Given the description of an element on the screen output the (x, y) to click on. 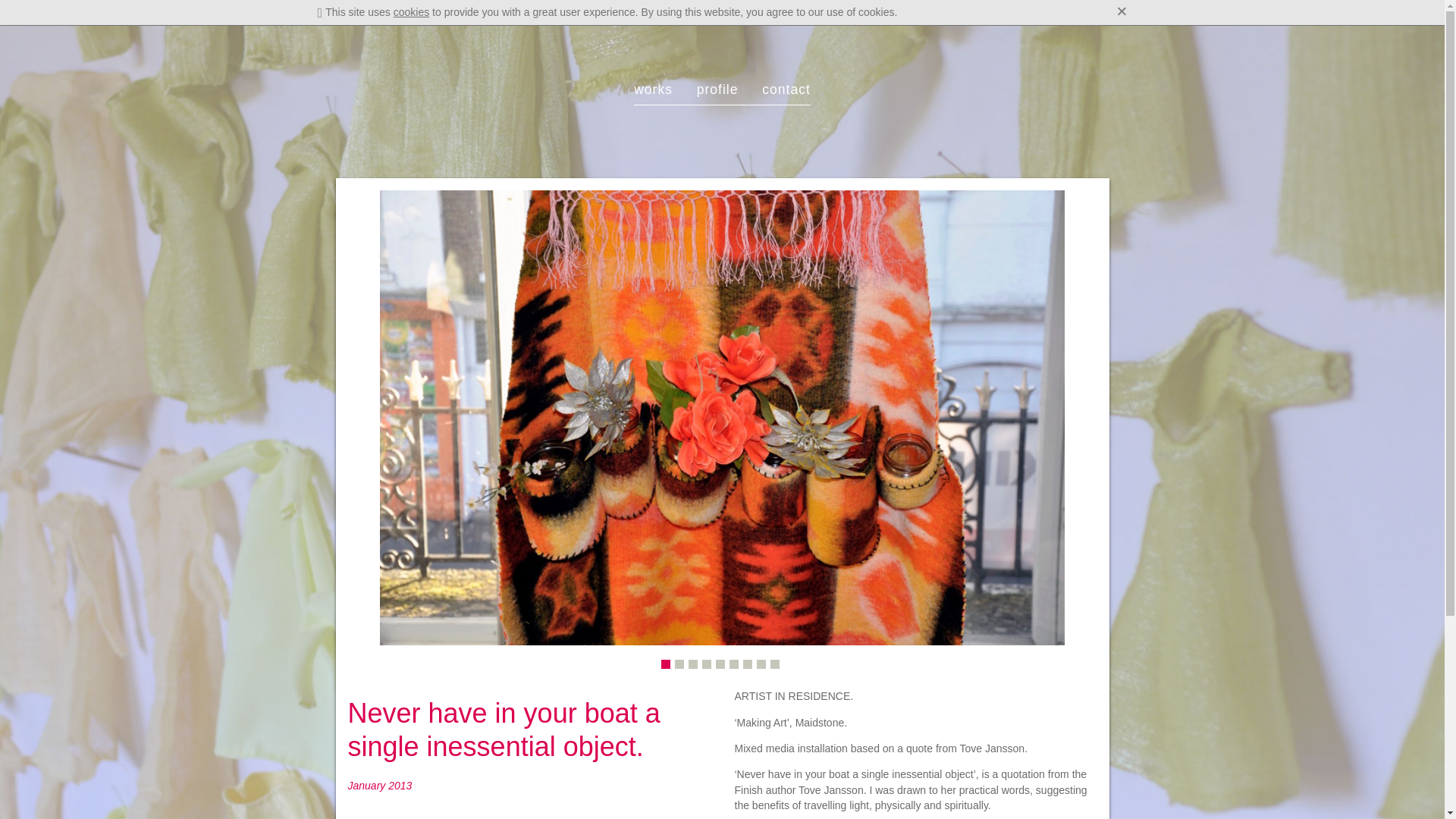
profile (717, 89)
4 (706, 664)
8 (761, 664)
3 (692, 664)
works (652, 89)
5 (720, 664)
1 (665, 664)
9 (774, 664)
contact (785, 89)
7 (747, 664)
cookies (411, 11)
2 (679, 664)
6 (733, 664)
